Given the description of an element on the screen output the (x, y) to click on. 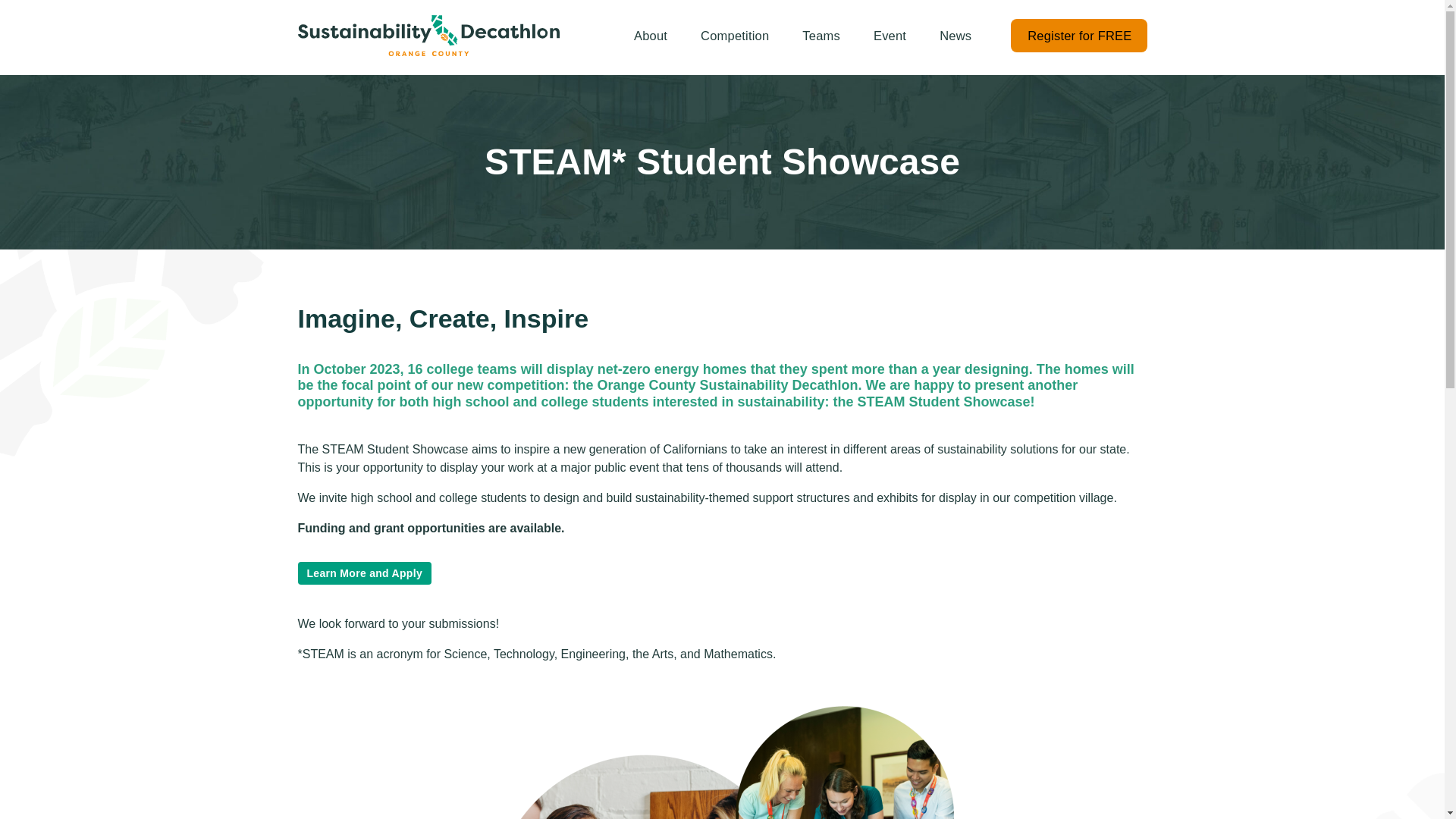
About (650, 35)
Competition (734, 35)
Register for FREE (1079, 35)
Learn More and Apply (363, 572)
Event (890, 35)
Teams (821, 35)
News (955, 35)
